Given the description of an element on the screen output the (x, y) to click on. 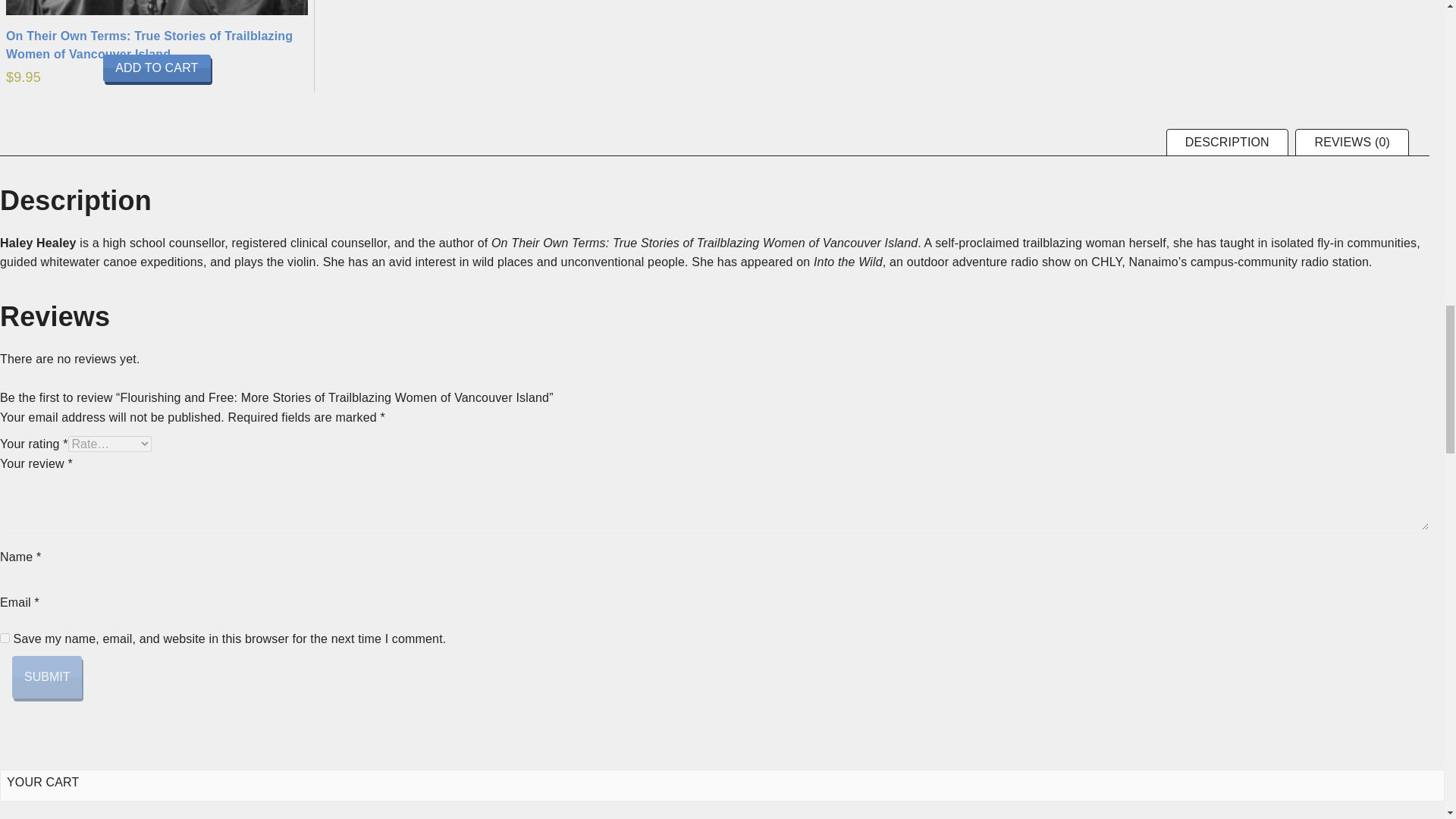
yes (5, 637)
Submit (46, 677)
Submit (46, 677)
DESCRIPTION (1227, 142)
ADD TO CART (157, 67)
